Given the description of an element on the screen output the (x, y) to click on. 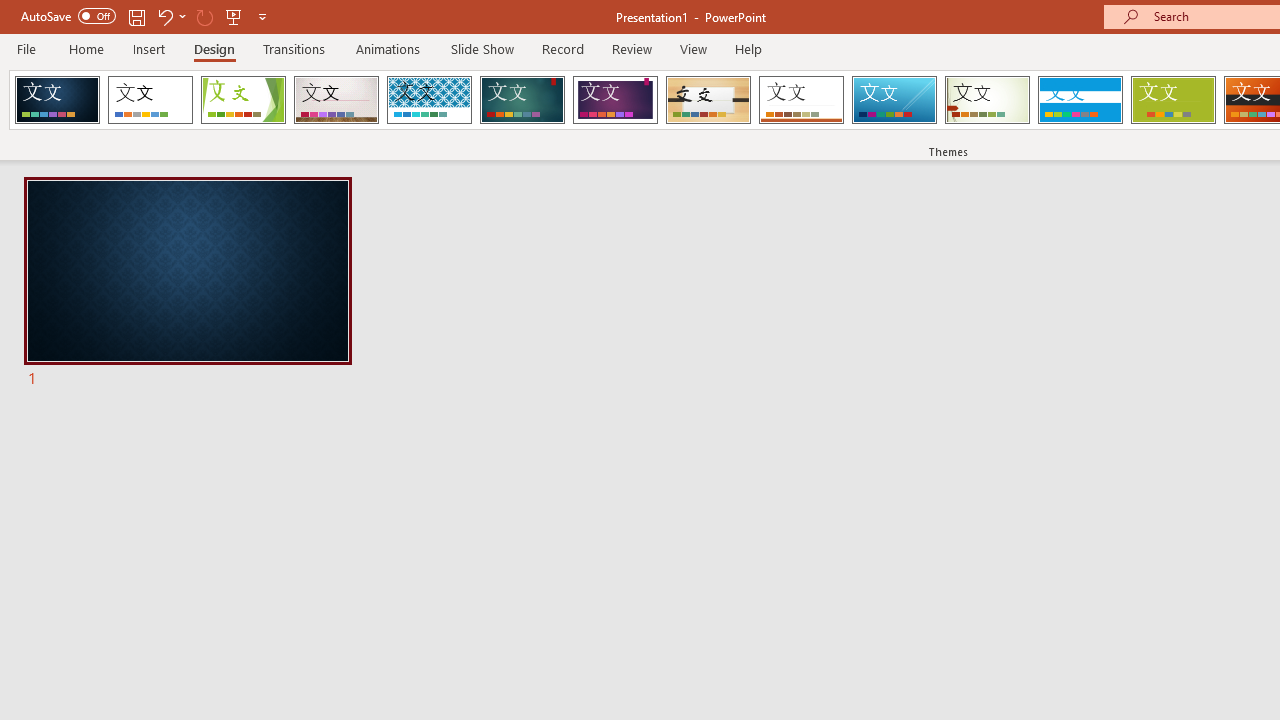
Ion Loading Preview... (522, 100)
Retrospect Loading Preview... (801, 100)
Organic Loading Preview... (708, 100)
Office Theme (150, 100)
Wisp Loading Preview... (987, 100)
Facet (243, 100)
